Given the description of an element on the screen output the (x, y) to click on. 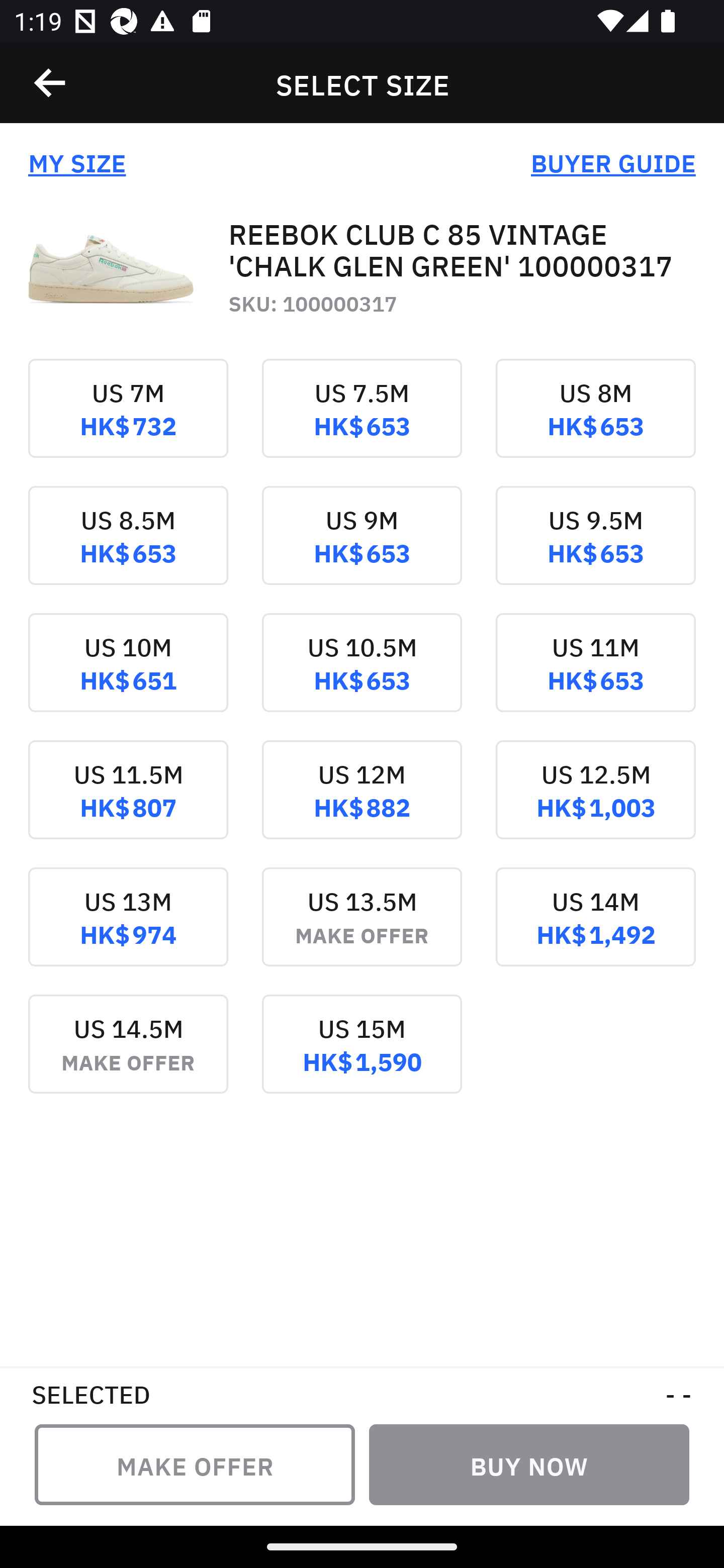
 (50, 83)
US 7M HK$ 732 (128, 422)
US 7.5M HK$ 653 (361, 422)
US 8M HK$ 653 (595, 422)
US 8.5M HK$ 653 (128, 549)
US 9M HK$ 653 (361, 549)
US 9.5M HK$ 653 (595, 549)
US 10M HK$ 651 (128, 676)
US 10.5M HK$ 653 (361, 676)
US 11M HK$ 653 (595, 676)
US 11.5M HK$ 807 (128, 803)
US 12M HK$ 882 (361, 803)
US 12.5M HK$ 1,003 (595, 803)
US 13M HK$ 974 (128, 930)
US 13.5M MAKE OFFER (361, 930)
US 14M HK$ 1,492 (595, 930)
US 14.5M MAKE OFFER (128, 1057)
US 15M HK$ 1,590 (361, 1057)
MAKE OFFER (194, 1464)
BUY NOW (529, 1464)
